Given the description of an element on the screen output the (x, y) to click on. 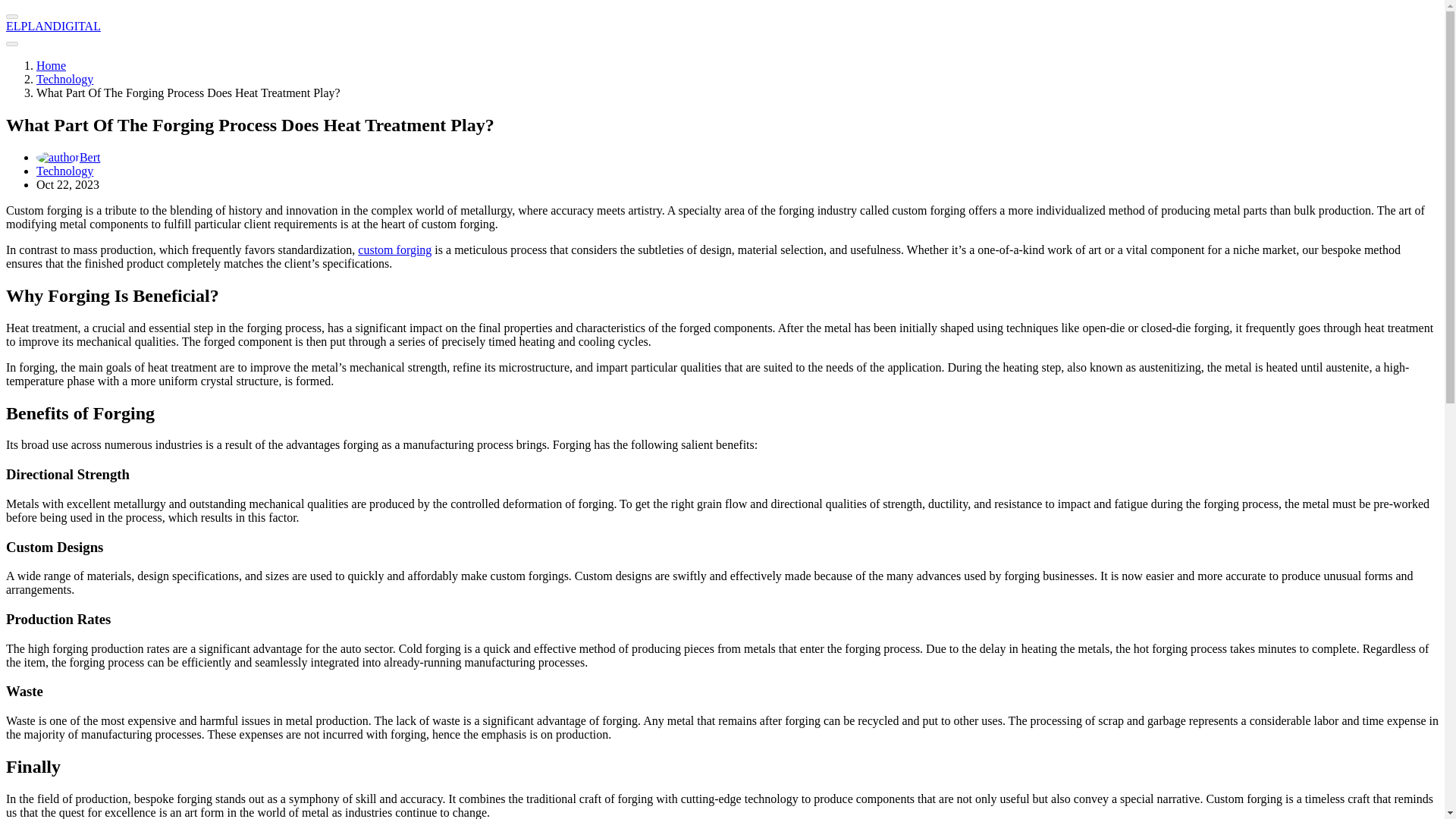
Technology (64, 170)
Technology (64, 78)
Technology (64, 78)
Home (50, 65)
Bert (68, 156)
Elplandigital (50, 65)
ELPLANDIGITAL (52, 25)
custom forging (394, 249)
